Given the description of an element on the screen output the (x, y) to click on. 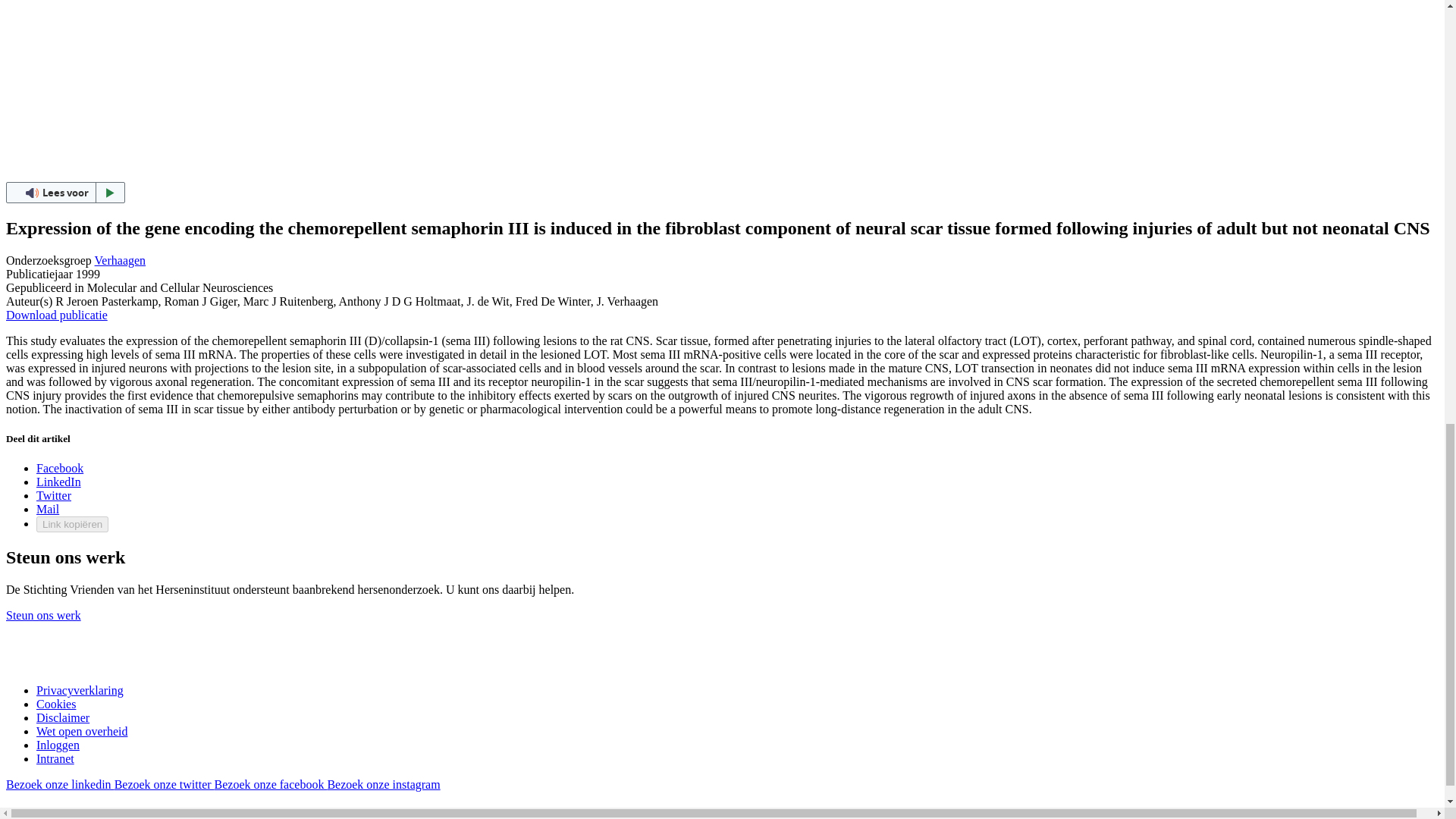
Tweet (53, 495)
Share on Facebook (59, 468)
Share on LinkedIn (58, 481)
Laat de tekst voorlezen met ReadSpeaker webReader (65, 192)
Share link (71, 524)
Share via mail (47, 508)
